Given the description of an element on the screen output the (x, y) to click on. 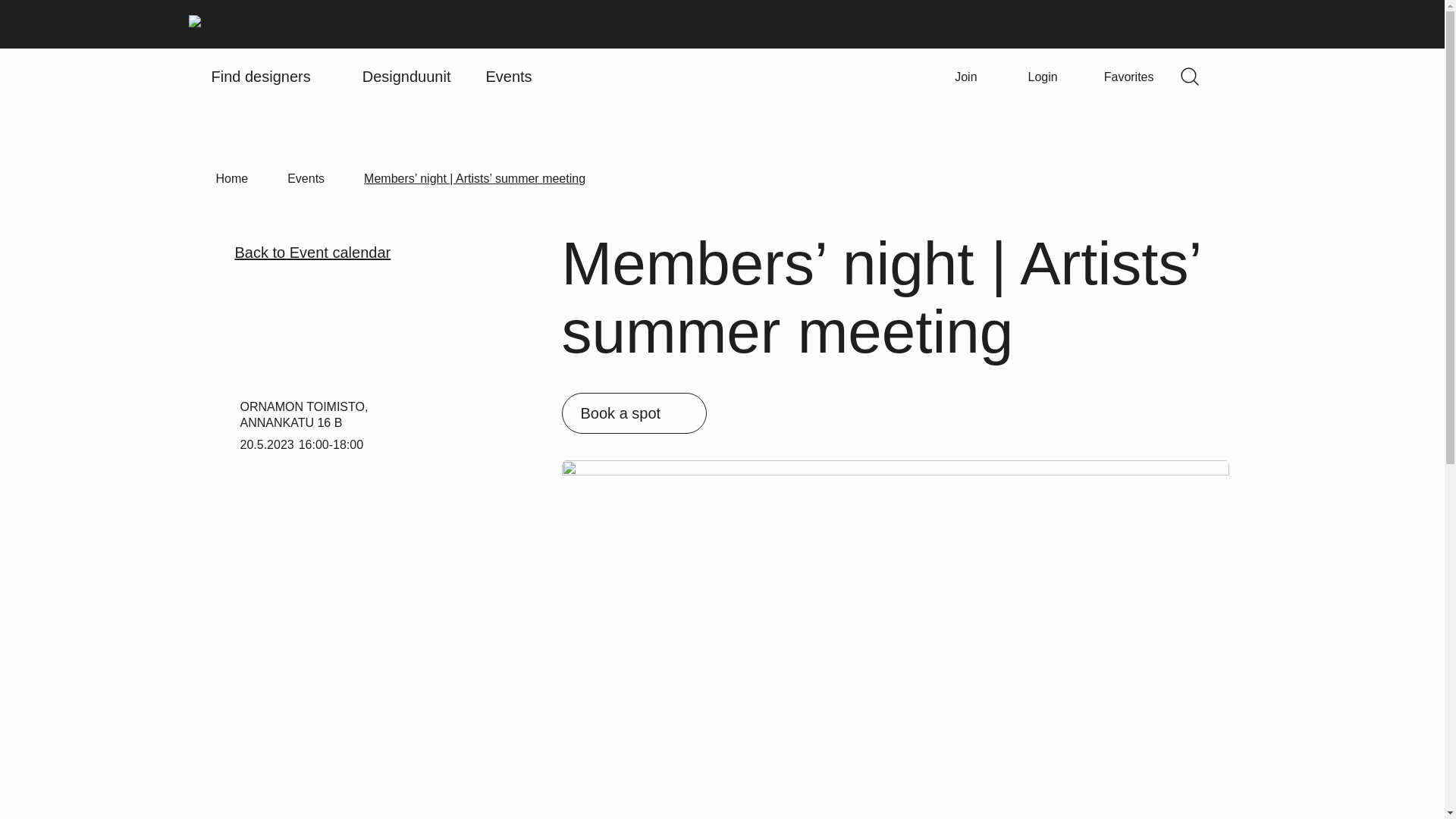
Favorites (1119, 75)
Login (1031, 75)
Designduunit (406, 76)
Book a spot (633, 413)
Events (305, 178)
Home (231, 178)
Back to Event calendar (313, 253)
Go to search (1188, 76)
Open language menu (1237, 76)
